Given the description of an element on the screen output the (x, y) to click on. 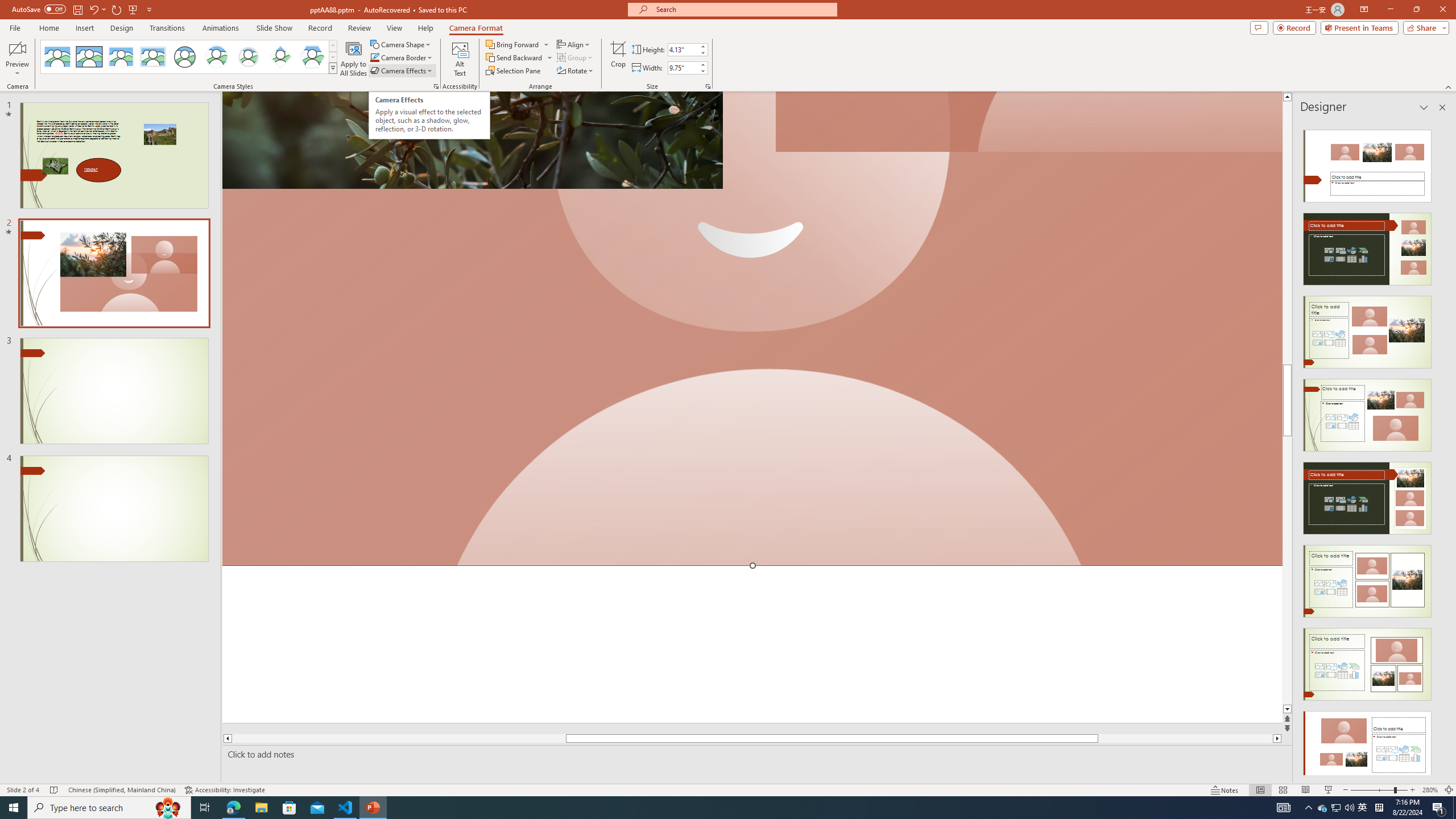
Class: NetUIScrollBar (1441, 447)
Rotate (575, 69)
Center Shadow Hexagon (312, 56)
No Style (57, 56)
Zoom 280% (1430, 790)
